Given the description of an element on the screen output the (x, y) to click on. 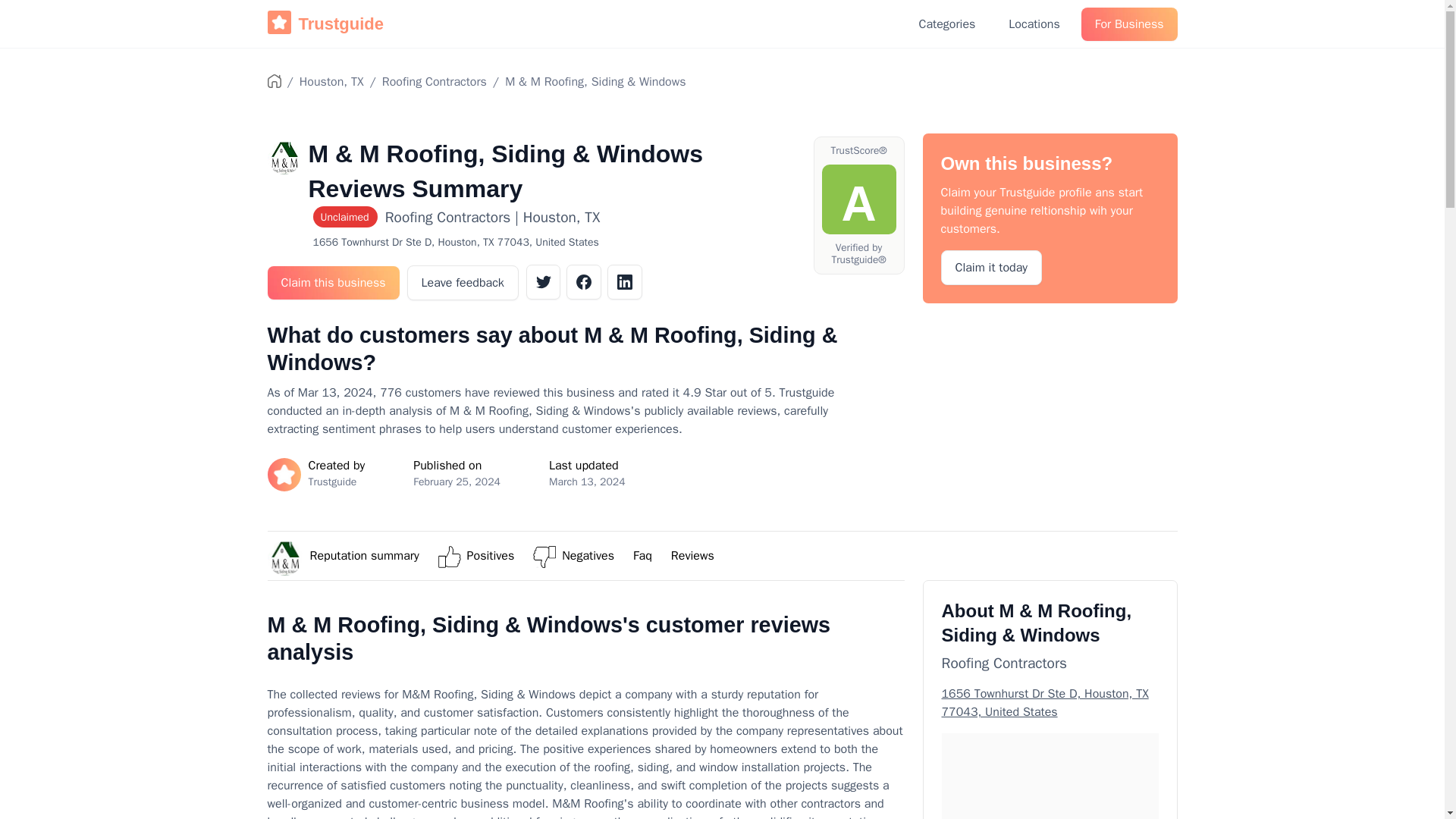
Negatives (588, 555)
Roofing Contractors (433, 81)
For Business (1129, 23)
Locations (1033, 23)
Reputation summary (363, 555)
Claim this business (332, 282)
Positives (491, 555)
Claim it today (991, 267)
Unclaimed (348, 218)
Reviews (692, 555)
